Given the description of an element on the screen output the (x, y) to click on. 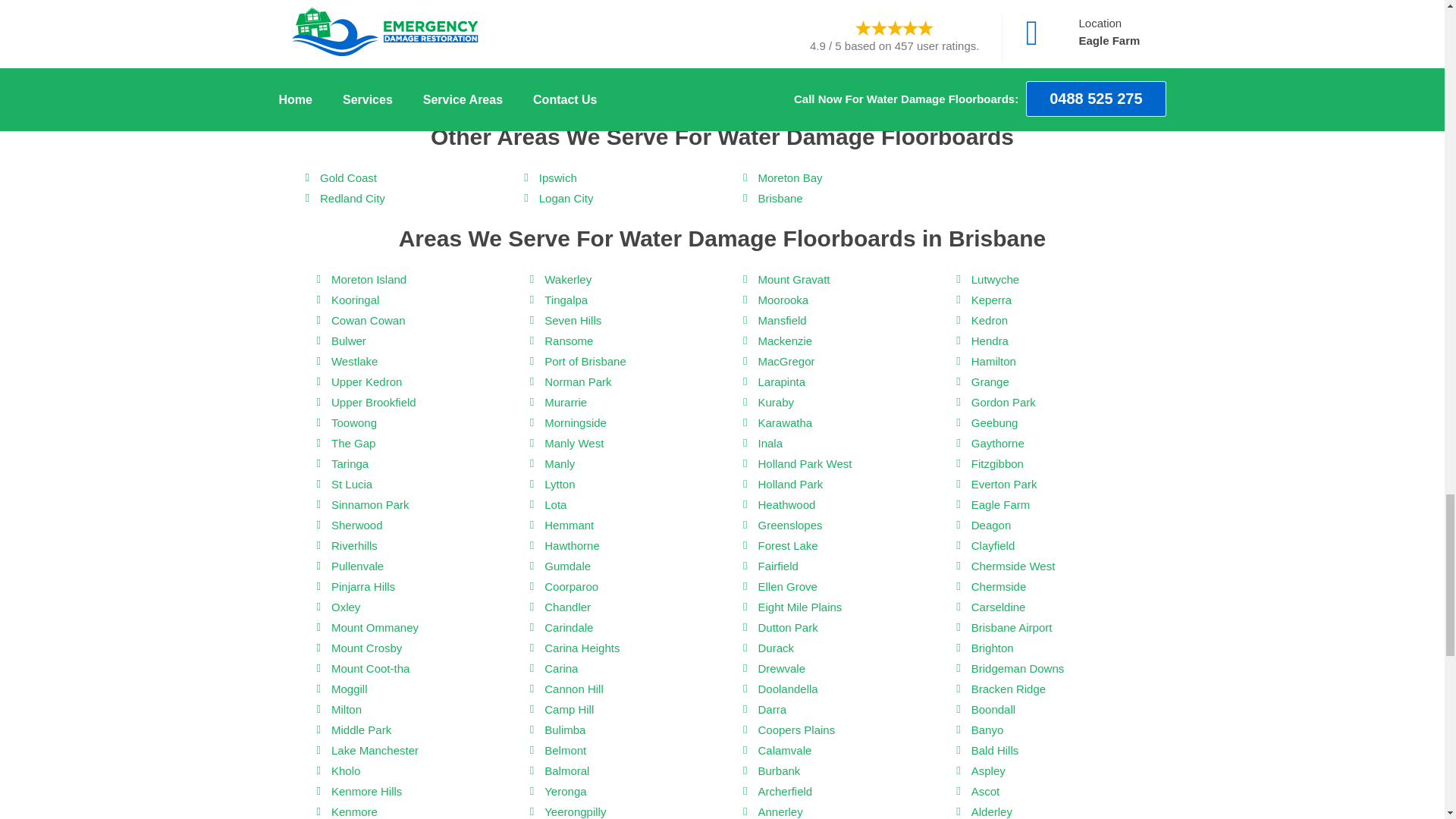
Ipswich (557, 177)
Moreton Bay (789, 177)
Kooringal (354, 299)
Bulwer (348, 340)
Westlake (354, 361)
Logan City (566, 198)
Cowan Cowan (368, 320)
Taringa (349, 463)
Toowong (354, 422)
The Gap (353, 443)
Upper Kedron (366, 381)
Redland City (352, 198)
Gold Coast (348, 177)
Brisbane (779, 198)
Moreton Island (368, 279)
